Given the description of an element on the screen output the (x, y) to click on. 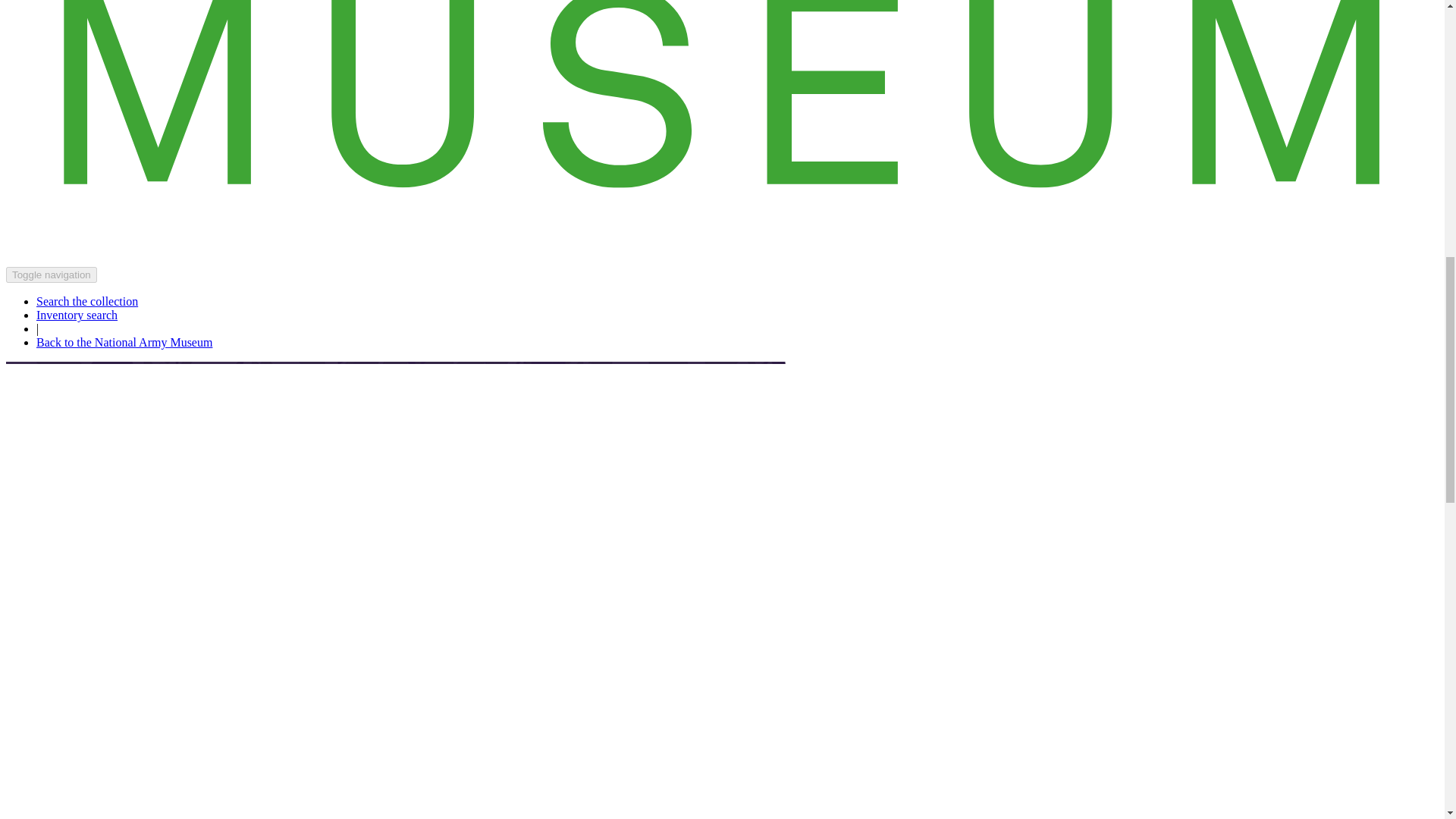
Inventory search (76, 314)
Search the collection (87, 300)
Toggle navigation (51, 274)
Back to the National Army Museum (124, 341)
